Given the description of an element on the screen output the (x, y) to click on. 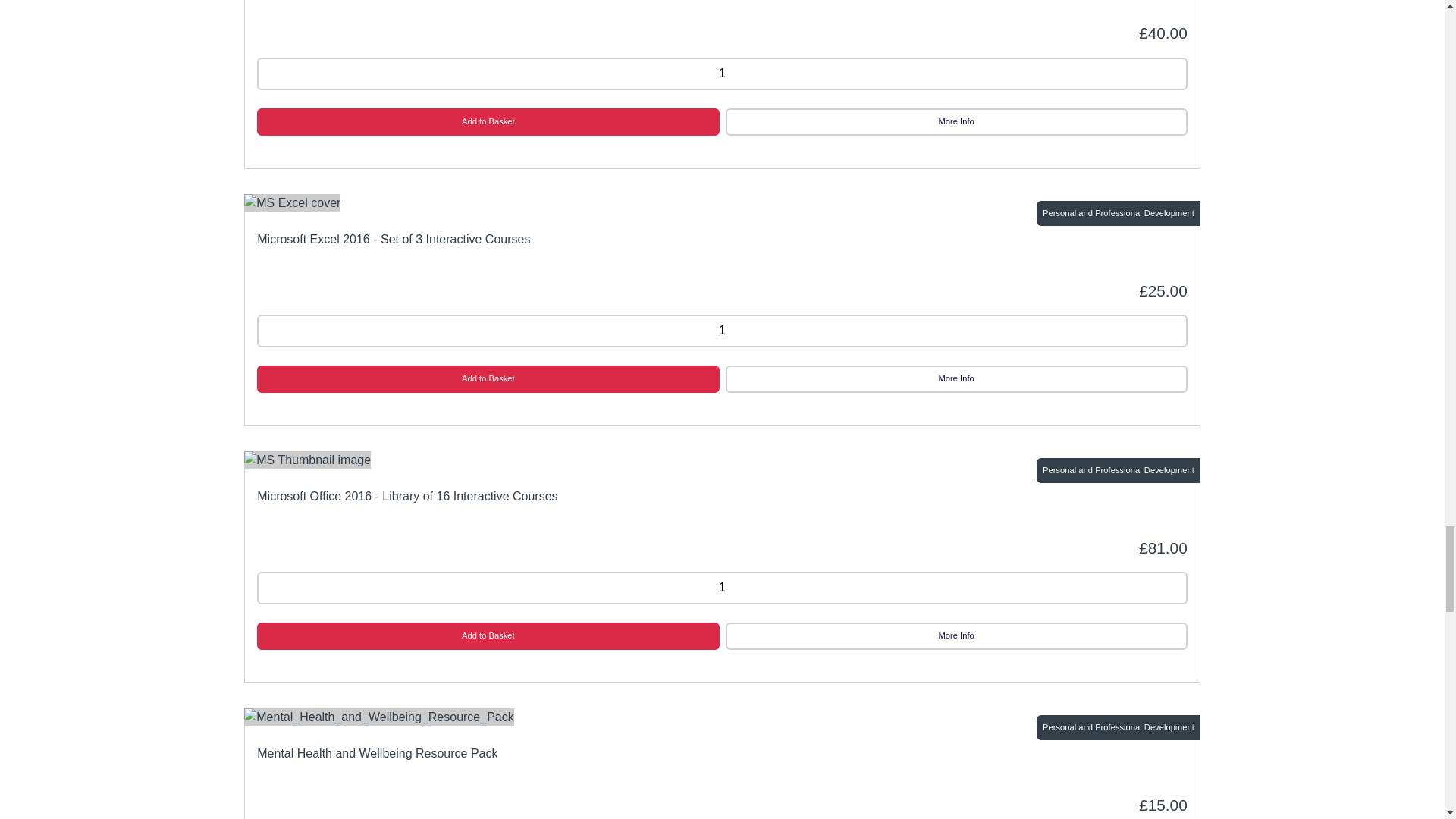
1 (722, 330)
1 (722, 587)
1 (722, 73)
